Given the description of an element on the screen output the (x, y) to click on. 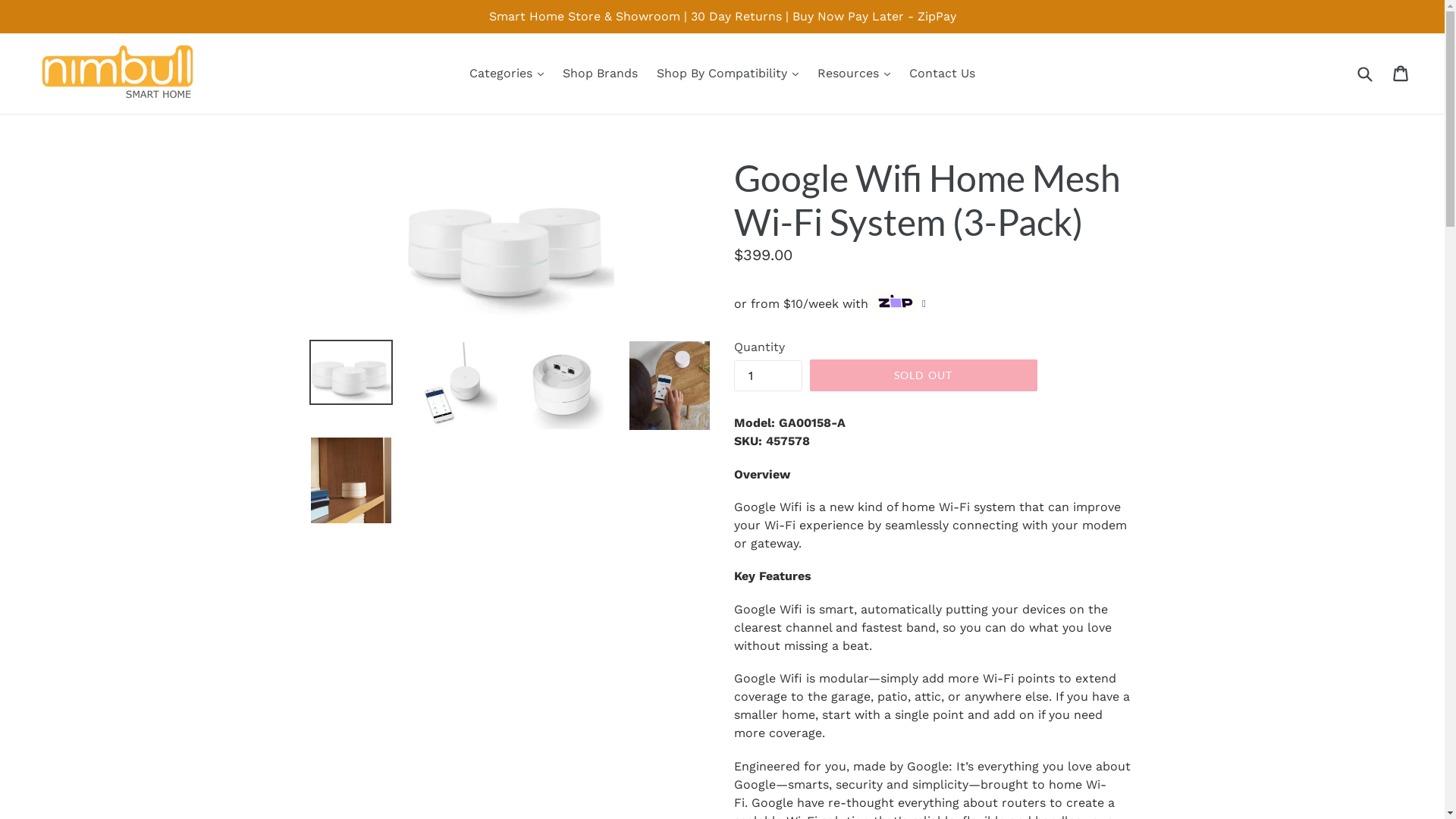
Contact Us Element type: text (941, 73)
Cart
Cart Element type: text (1401, 73)
Submit Element type: text (1363, 72)
Shop Brands Element type: text (600, 73)
SOLD OUT Element type: text (923, 375)
